Given the description of an element on the screen output the (x, y) to click on. 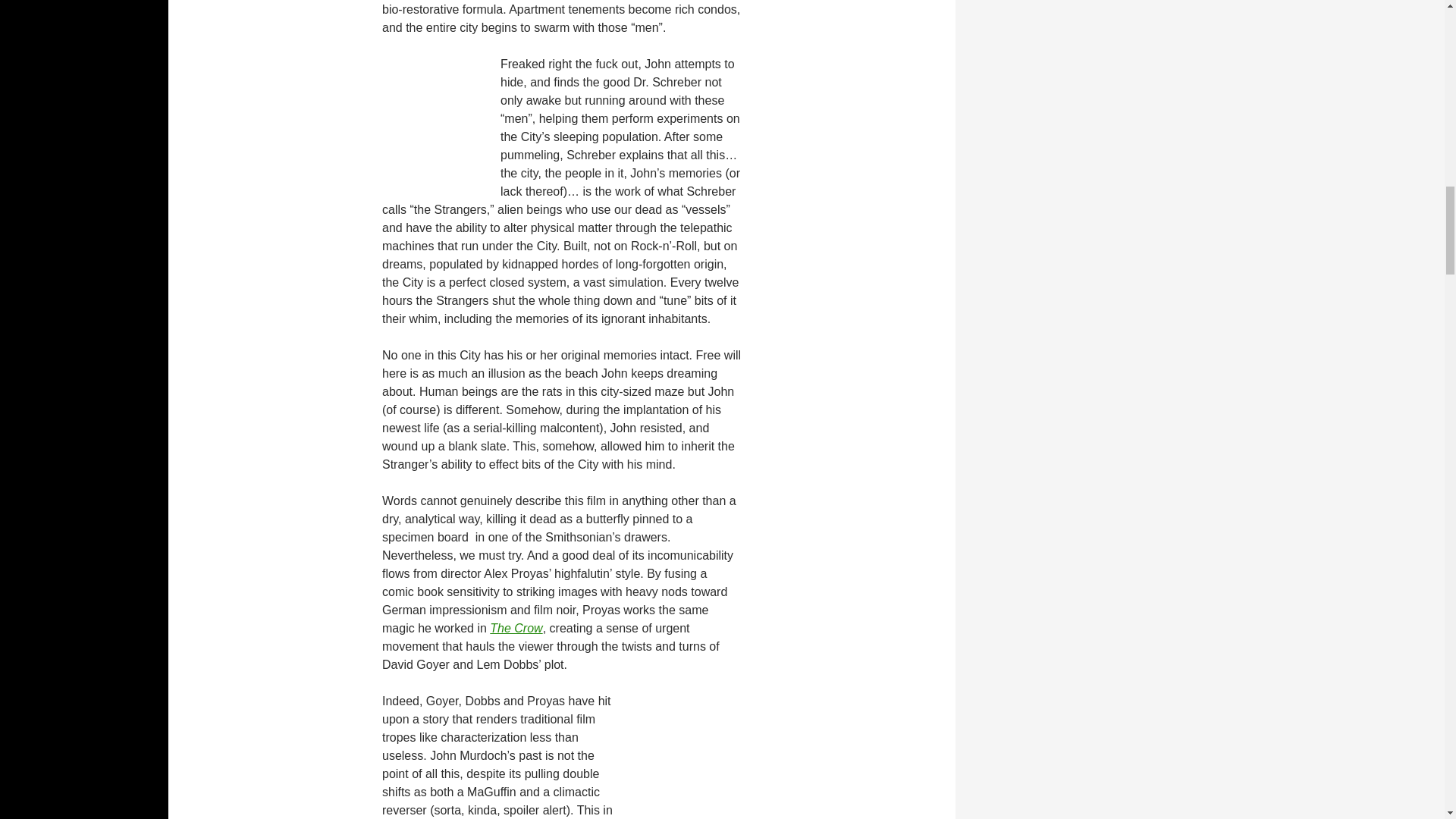
Get your German Expressionism on, too... (755, 758)
The Crow (515, 627)
